Given the description of an element on the screen output the (x, y) to click on. 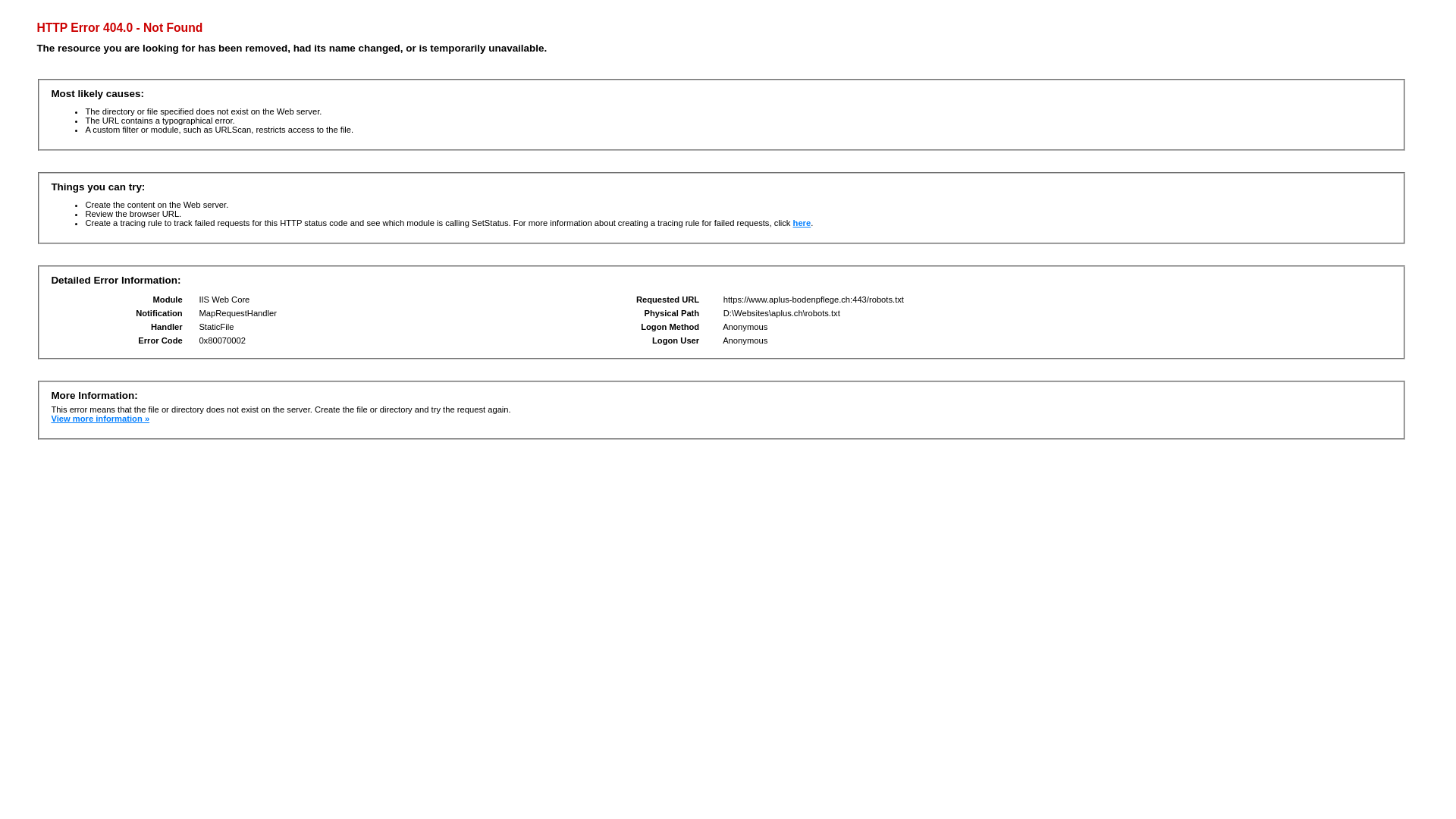
here Element type: text (802, 222)
